Given the description of an element on the screen output the (x, y) to click on. 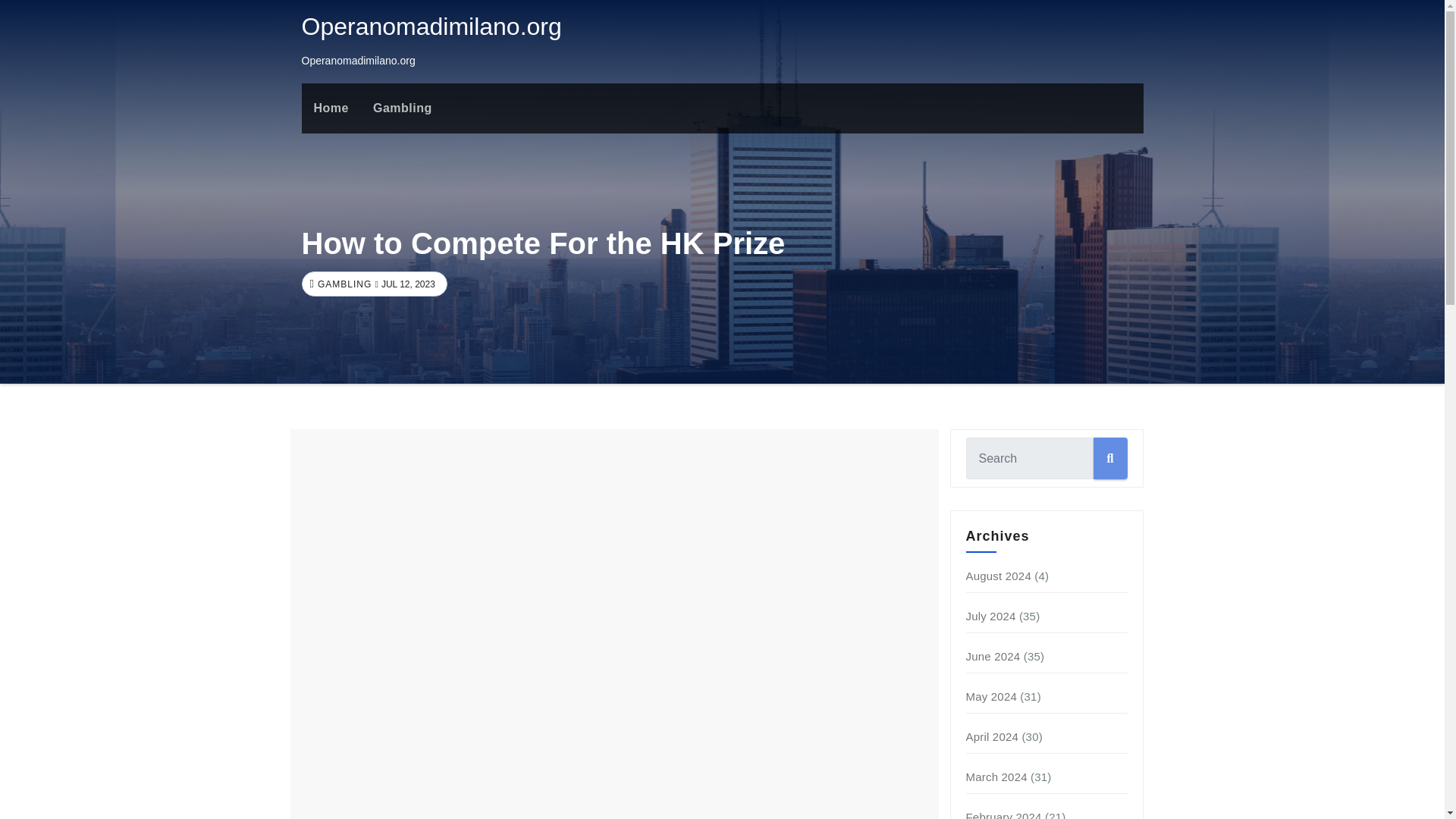
GAMBLING (342, 284)
March 2024 (996, 776)
June 2024 (993, 656)
July 2024 (991, 615)
Home (331, 108)
April 2024 (992, 736)
February 2024 (1004, 814)
Operanomadimilano.org (431, 26)
Home (331, 108)
August 2024 (998, 575)
May 2024 (991, 696)
Gambling (402, 108)
Gambling (402, 108)
